Given the description of an element on the screen output the (x, y) to click on. 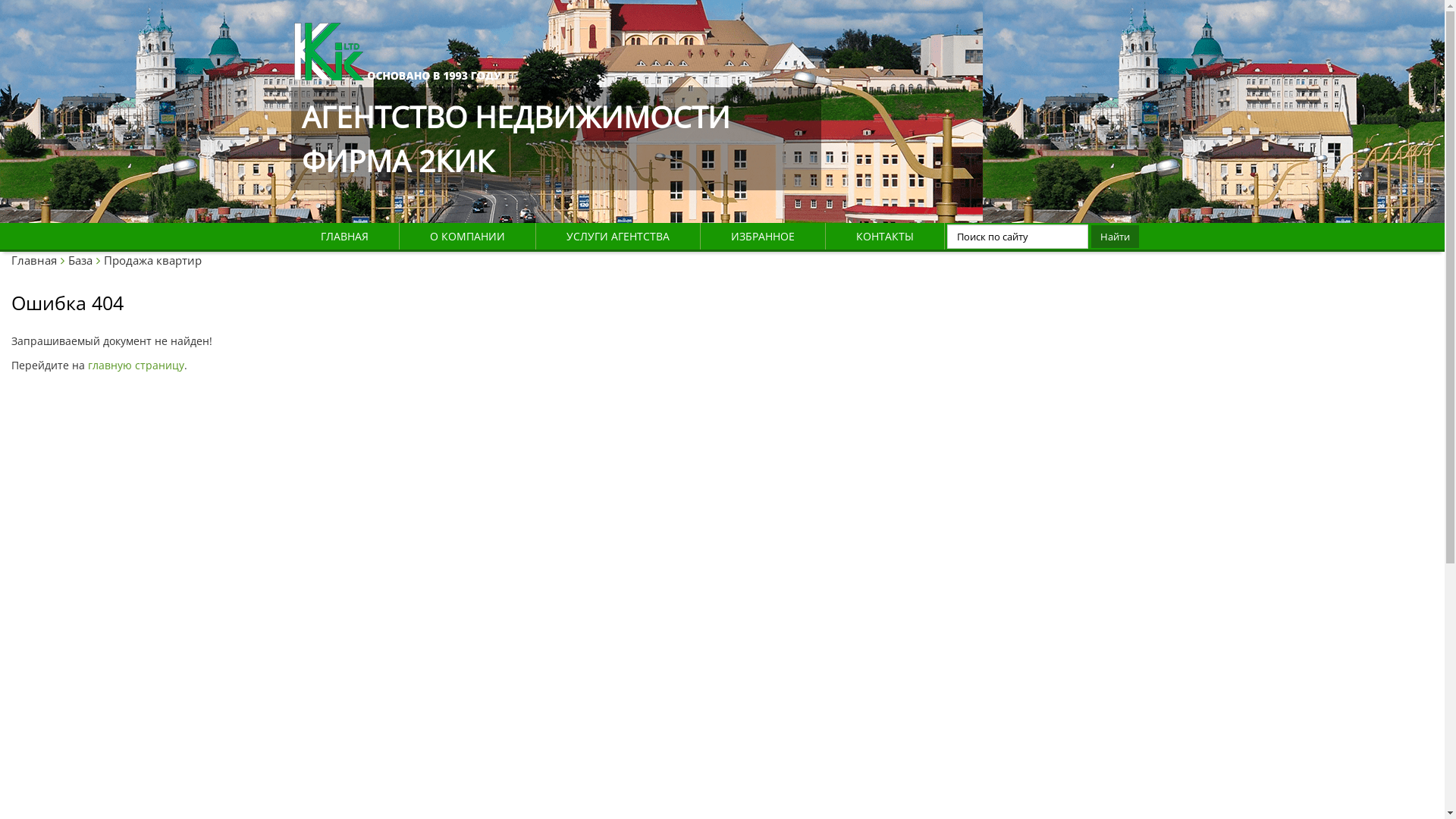
HostCMS Element type: hover (396, 31)
